Given the description of an element on the screen output the (x, y) to click on. 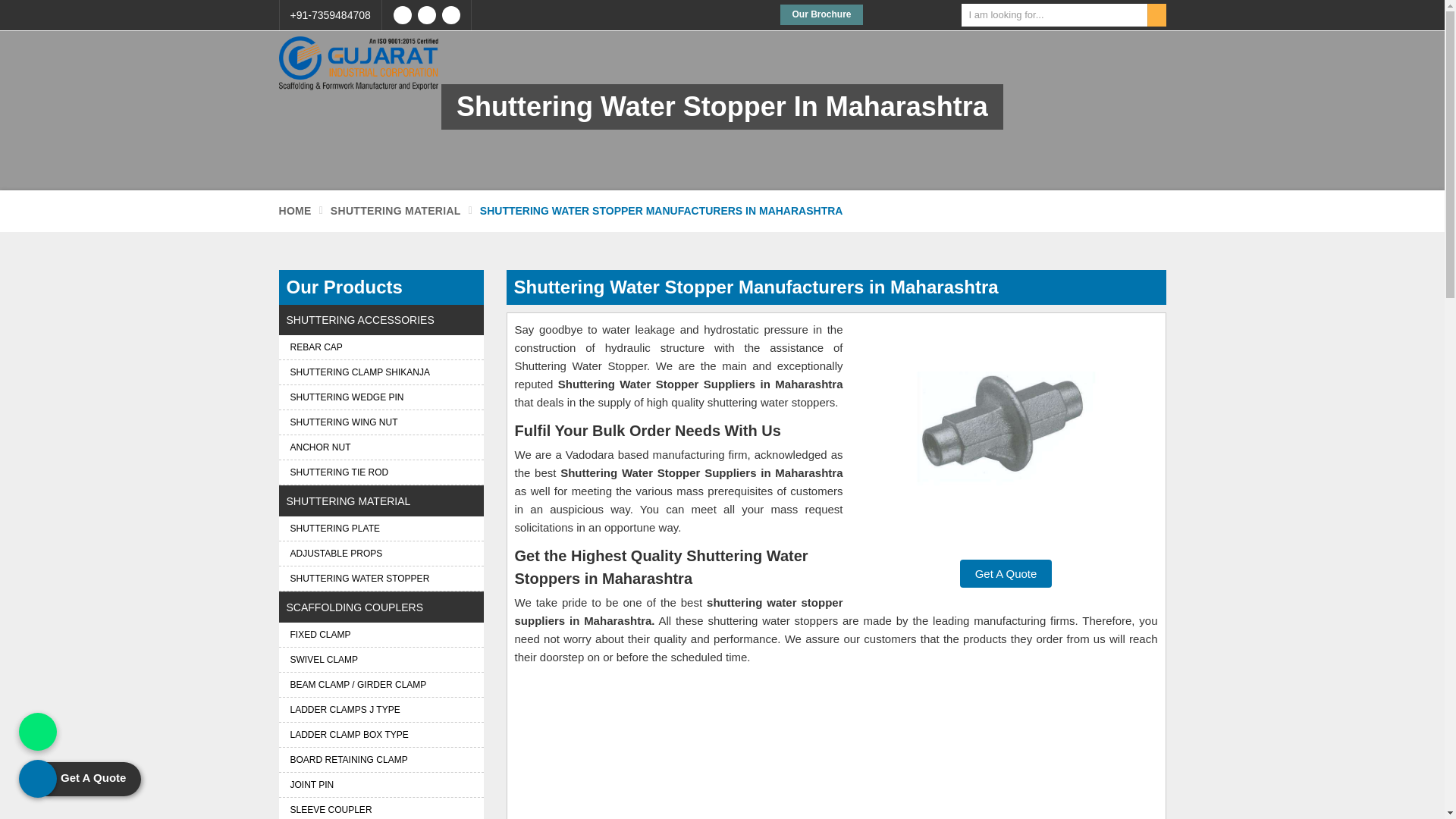
SHUTTERING PLATE (381, 528)
Follow us on Instagram (426, 14)
Shuttering Material (395, 210)
SHUTTERING CLAMP SHIKANJA (381, 372)
LADDER CLAMPS J TYPE (381, 709)
FIXED CLAMP (381, 634)
SWIVEL CLAMP (381, 659)
SHUTTERING WATER STOPPER (381, 578)
SHUTTERING TIE ROD (381, 472)
Get A Quote (1005, 573)
